Given the description of an element on the screen output the (x, y) to click on. 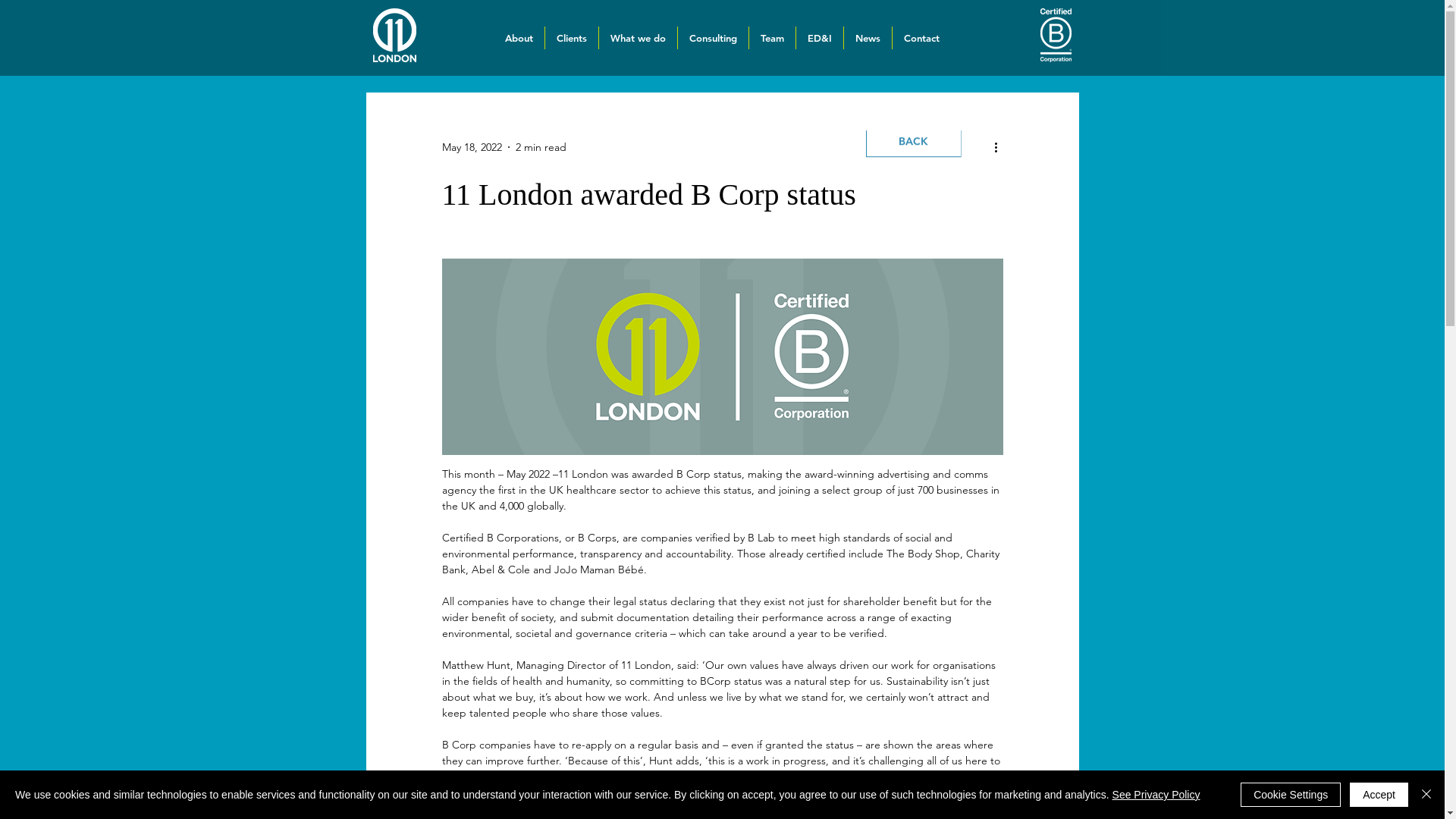
Contact Element type: text (921, 37)
News Element type: text (867, 37)
Cookie Settings Element type: text (1290, 794)
What we do Element type: text (638, 37)
ED&I Element type: text (819, 37)
About Element type: text (518, 37)
Team Element type: text (772, 37)
BACK Element type: text (913, 128)
See Privacy Policy Element type: text (1156, 794)
Accept Element type: text (1378, 794)
Clients Element type: text (571, 37)
Consulting Element type: text (712, 37)
